Given the description of an element on the screen output the (x, y) to click on. 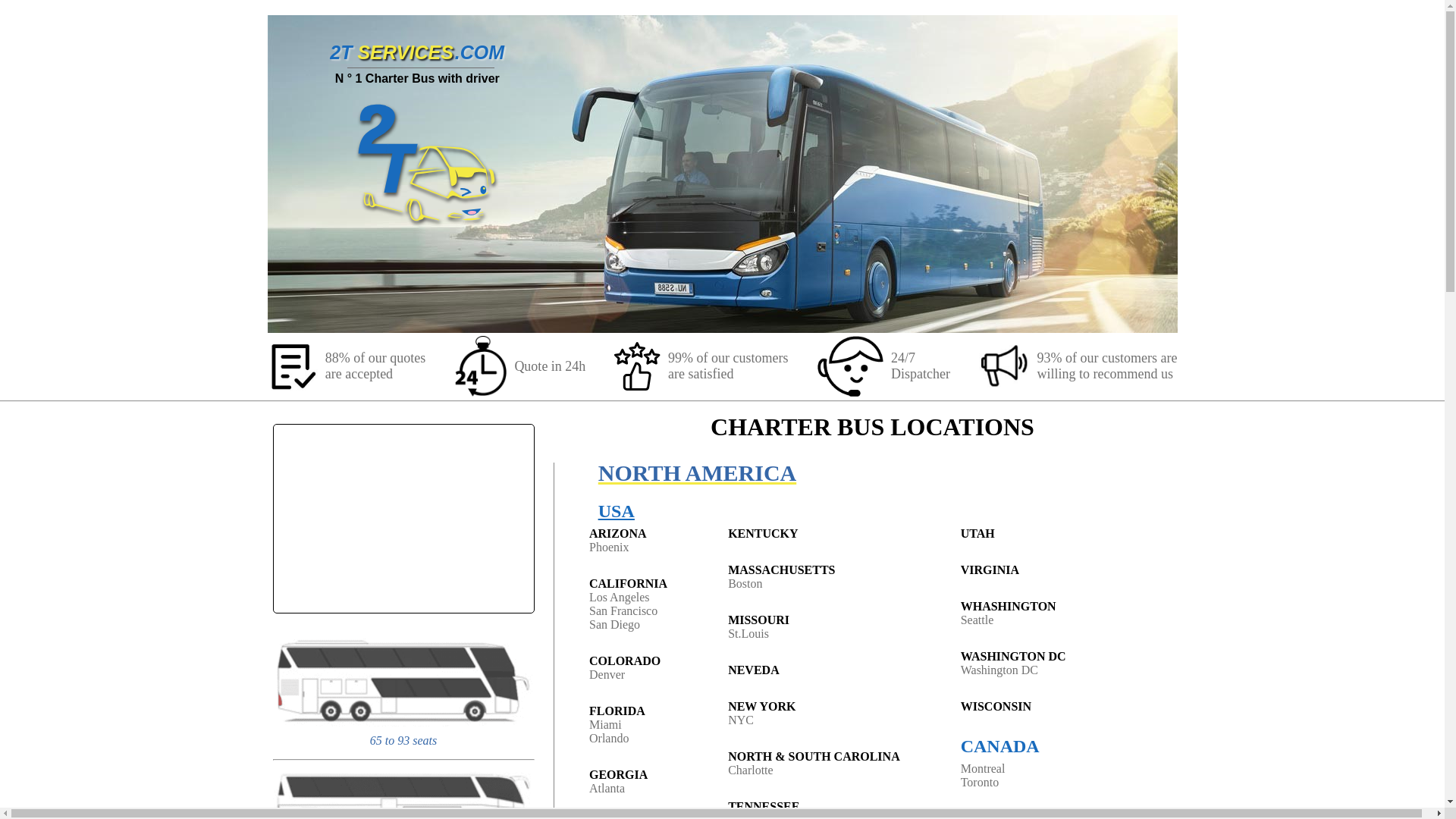
CANADA Element type: text (1013, 746)
MASSACHUSETTS Element type: text (781, 569)
TENNESSEE Element type: text (763, 806)
VIRGINIA Element type: text (989, 569)
FLORIDA Element type: text (617, 710)
WHASHINGTON Element type: text (1008, 605)
St.Louis Element type: text (748, 633)
Boston Element type: text (745, 583)
Miami Element type: text (605, 724)
Los Angeles Element type: text (619, 596)
Seattle Element type: text (977, 619)
YouTube video Element type: hover (403, 518)
USA Element type: text (697, 511)
Orlando Element type: text (608, 737)
Toronto Element type: text (979, 781)
WASHINGTON DC Element type: text (1013, 655)
Charlotte Element type: text (750, 769)
San Diego Element type: text (614, 624)
NORTH & SOUTH CAROLINA Element type: text (814, 755)
COLORADO Element type: text (624, 660)
CALIFORNIA Element type: text (628, 583)
ARIZONA Element type: text (617, 533)
GEORGIA Element type: text (618, 774)
Atlanta Element type: text (606, 787)
Denver Element type: text (606, 674)
MISSOURI Element type: text (758, 619)
KENTUCKY Element type: text (762, 533)
UTAH Element type: text (977, 533)
Phoenix Element type: text (608, 546)
NEW YORK Element type: text (761, 705)
WISCONSIN Element type: text (995, 705)
NYC Element type: text (740, 719)
NEVEDA Element type: text (753, 669)
Washington DC Element type: text (999, 669)
San Francisco Element type: text (623, 610)
Montreal Element type: text (982, 768)
